Given the description of an element on the screen output the (x, y) to click on. 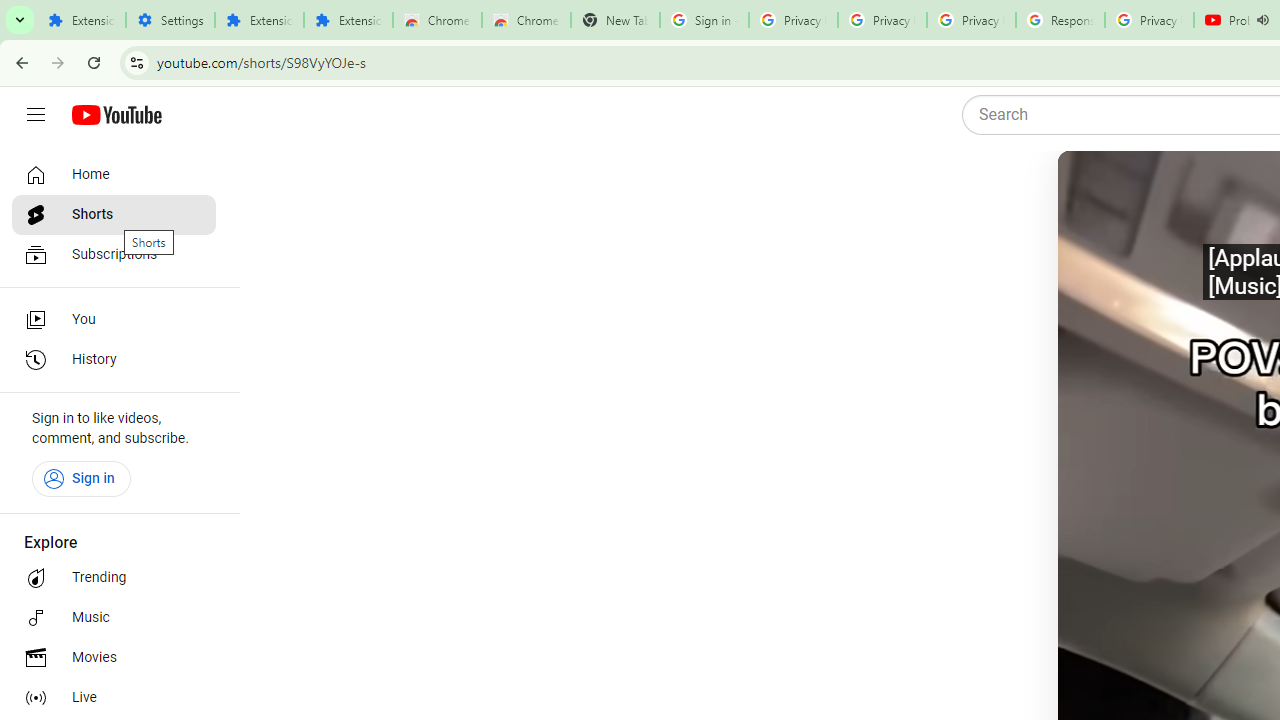
Guide (35, 115)
Shorts (113, 214)
Settings (170, 20)
Subscriptions (113, 254)
History (113, 359)
Extensions (347, 20)
YouTube Home (116, 115)
Chrome Web Store (437, 20)
Home (113, 174)
Music (113, 617)
Live (113, 697)
